Given the description of an element on the screen output the (x, y) to click on. 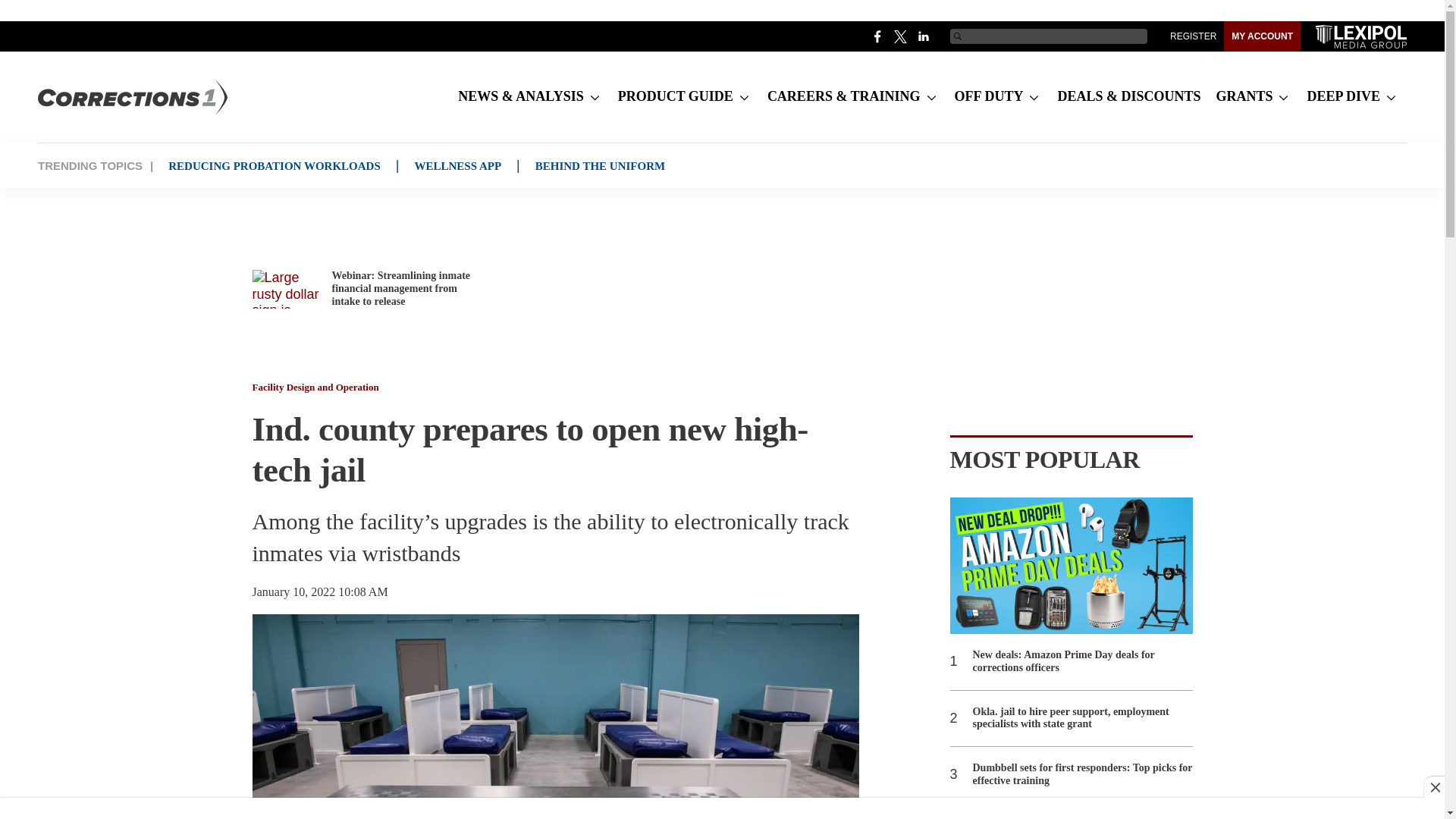
twitter (900, 36)
MY ACCOUNT (1262, 36)
facebook (877, 36)
linkedin (923, 36)
REGISTER (1192, 36)
